Given the description of an element on the screen output the (x, y) to click on. 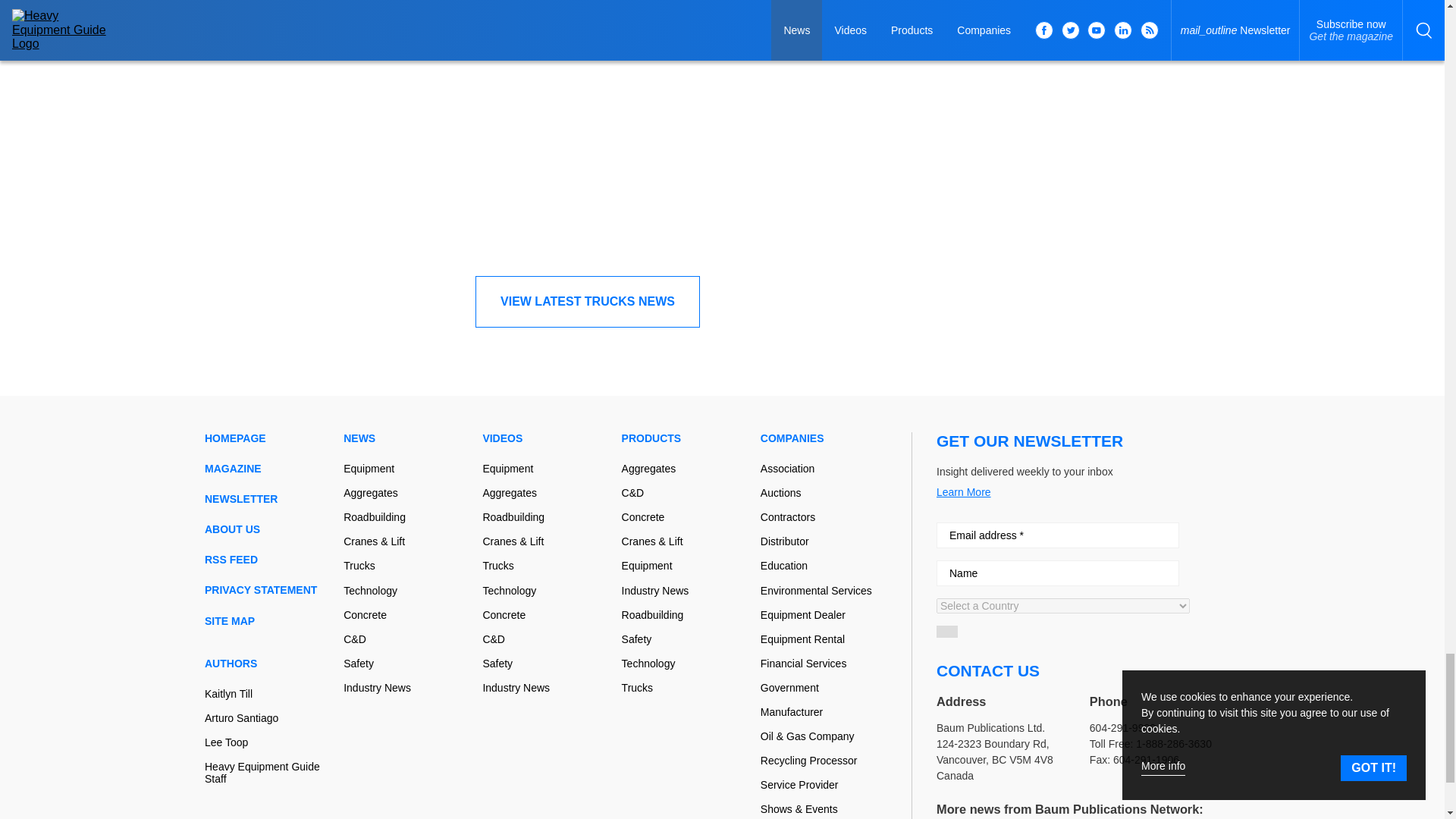
ABOUT US (268, 529)
VIEW LATEST TRUCKS NEWS (588, 301)
HOMEPAGE (268, 438)
SITE MAP (268, 621)
RSS FEED (268, 559)
PRIVACY STATEMENT (268, 589)
MAGAZINE (268, 468)
NEWSLETTER (268, 499)
